Given the description of an element on the screen output the (x, y) to click on. 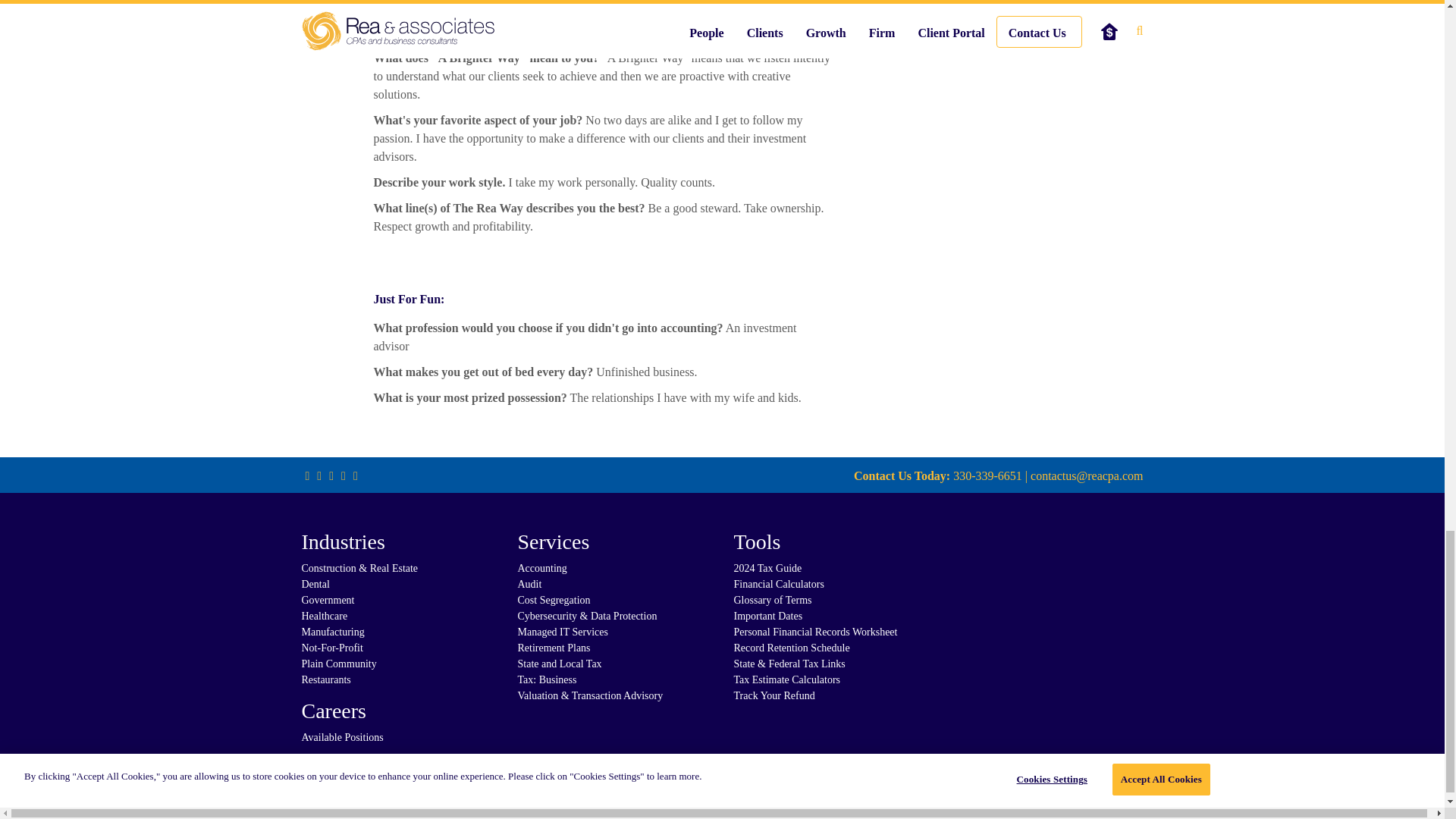
youtube (330, 475)
twitter (318, 475)
facebook (307, 475)
podcast (355, 475)
linkedin (343, 475)
